Given the description of an element on the screen output the (x, y) to click on. 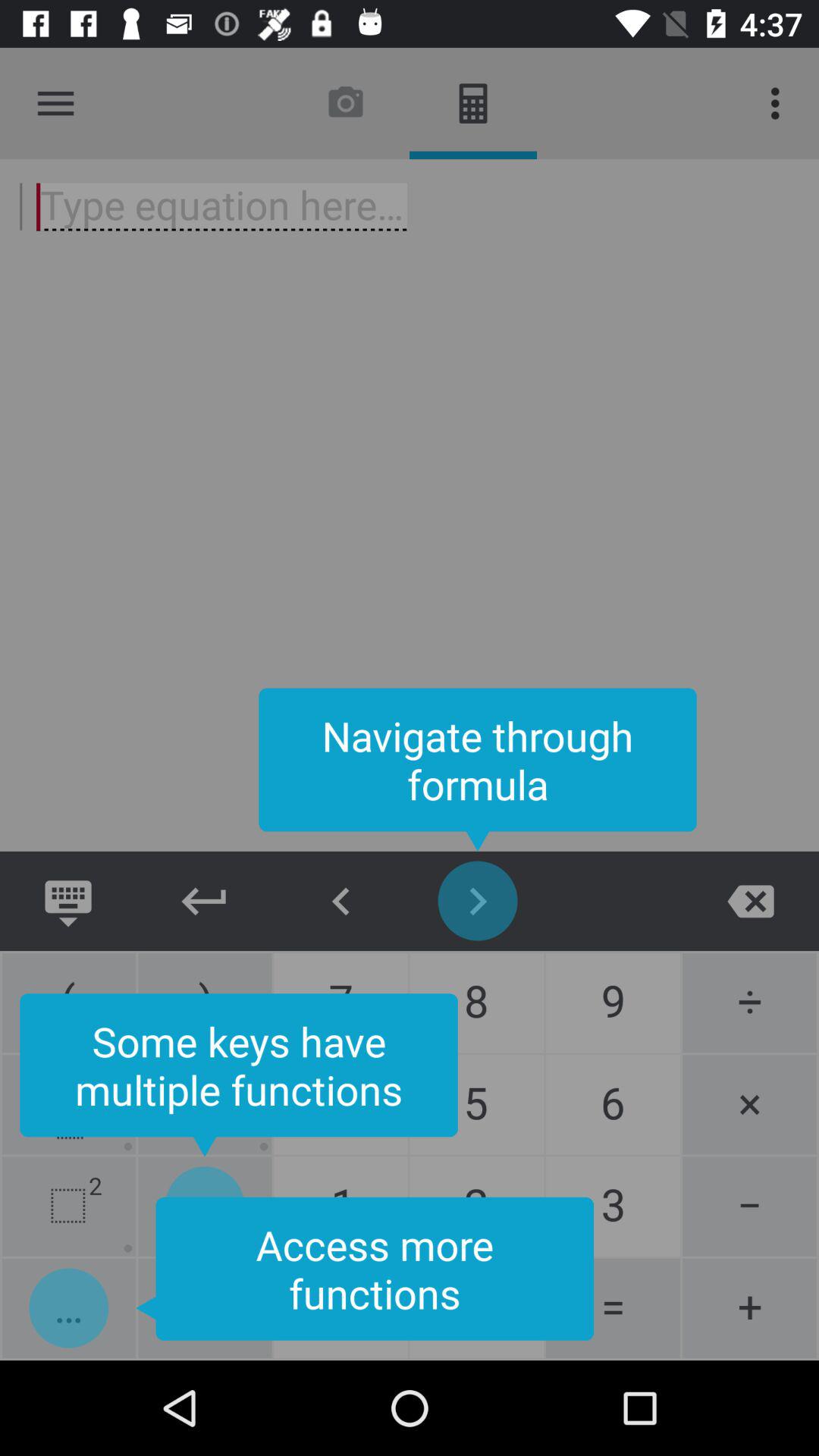
hide calculator keypad (204, 900)
